Given the description of an element on the screen output the (x, y) to click on. 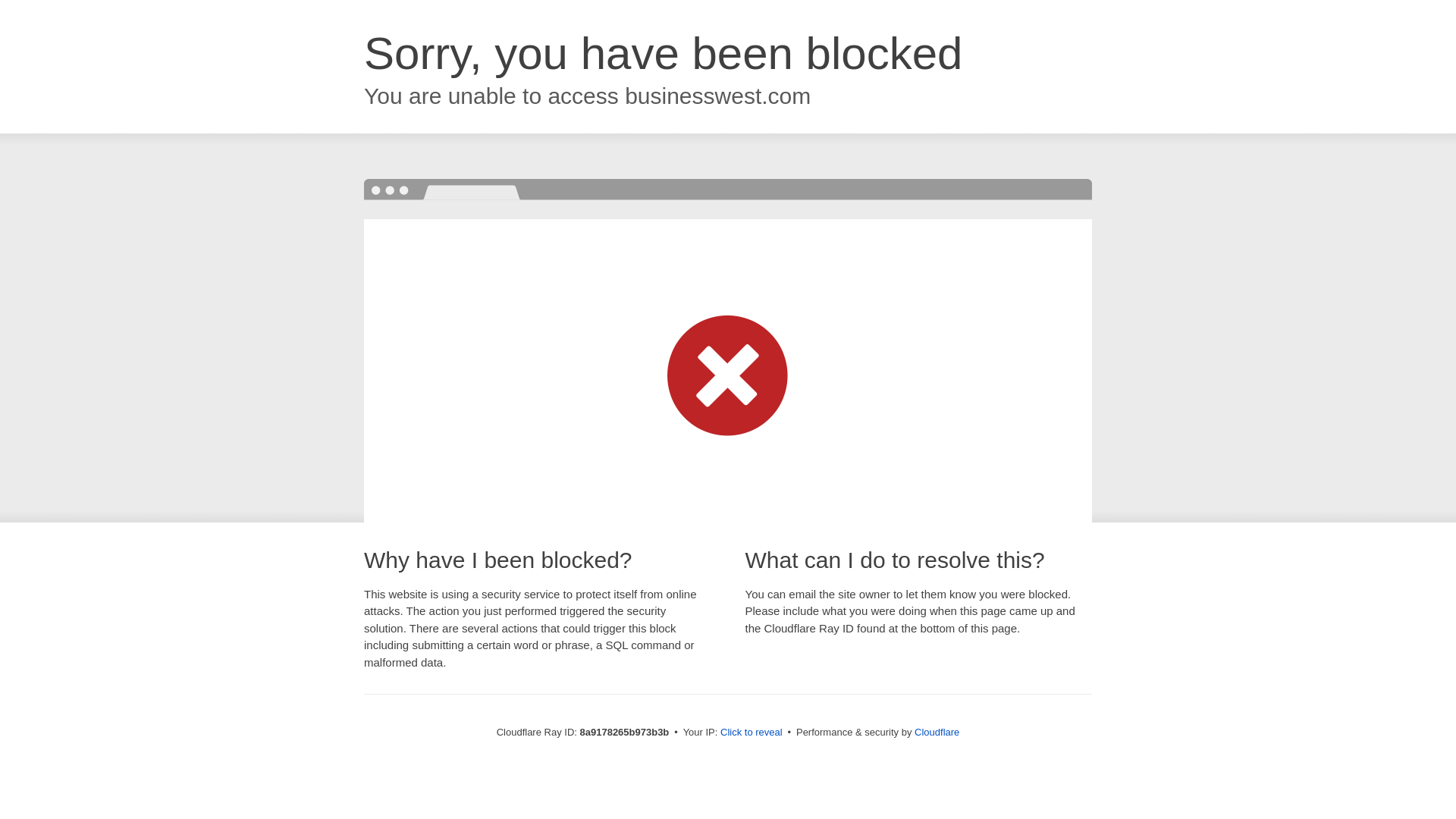
Click to reveal (751, 732)
Cloudflare (936, 731)
